Given the description of an element on the screen output the (x, y) to click on. 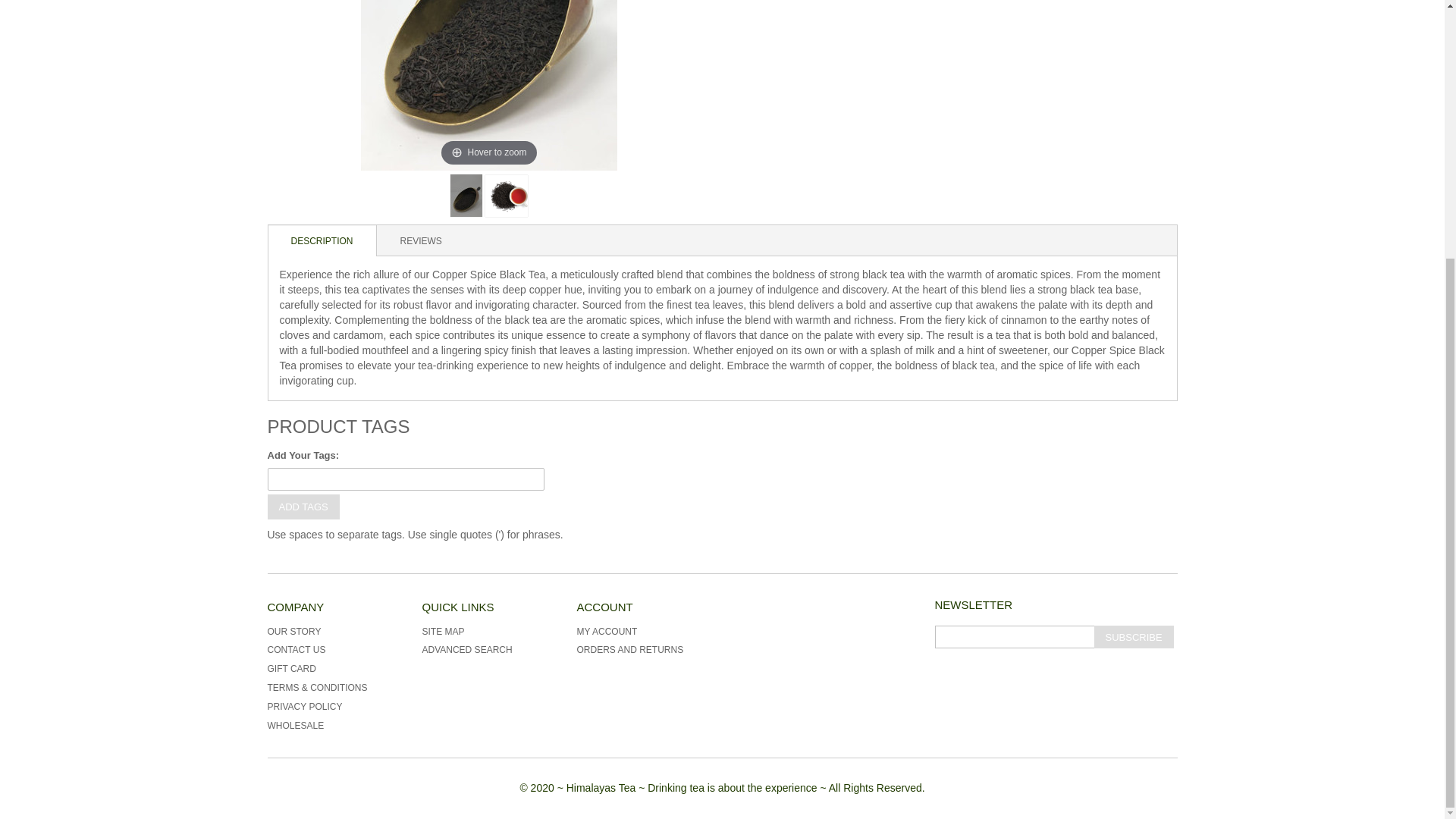
Sign up for our newsletter (1013, 636)
Subscribe (1133, 636)
ADD TAGS (302, 506)
Advanced Search (467, 649)
Copper Spice Black Tea (465, 195)
Add Tags (302, 506)
Site Map (443, 631)
Copper Spice Black Tea (505, 195)
Hover to zoom (489, 85)
Wholesale Tea (294, 725)
